Given the description of an element on the screen output the (x, y) to click on. 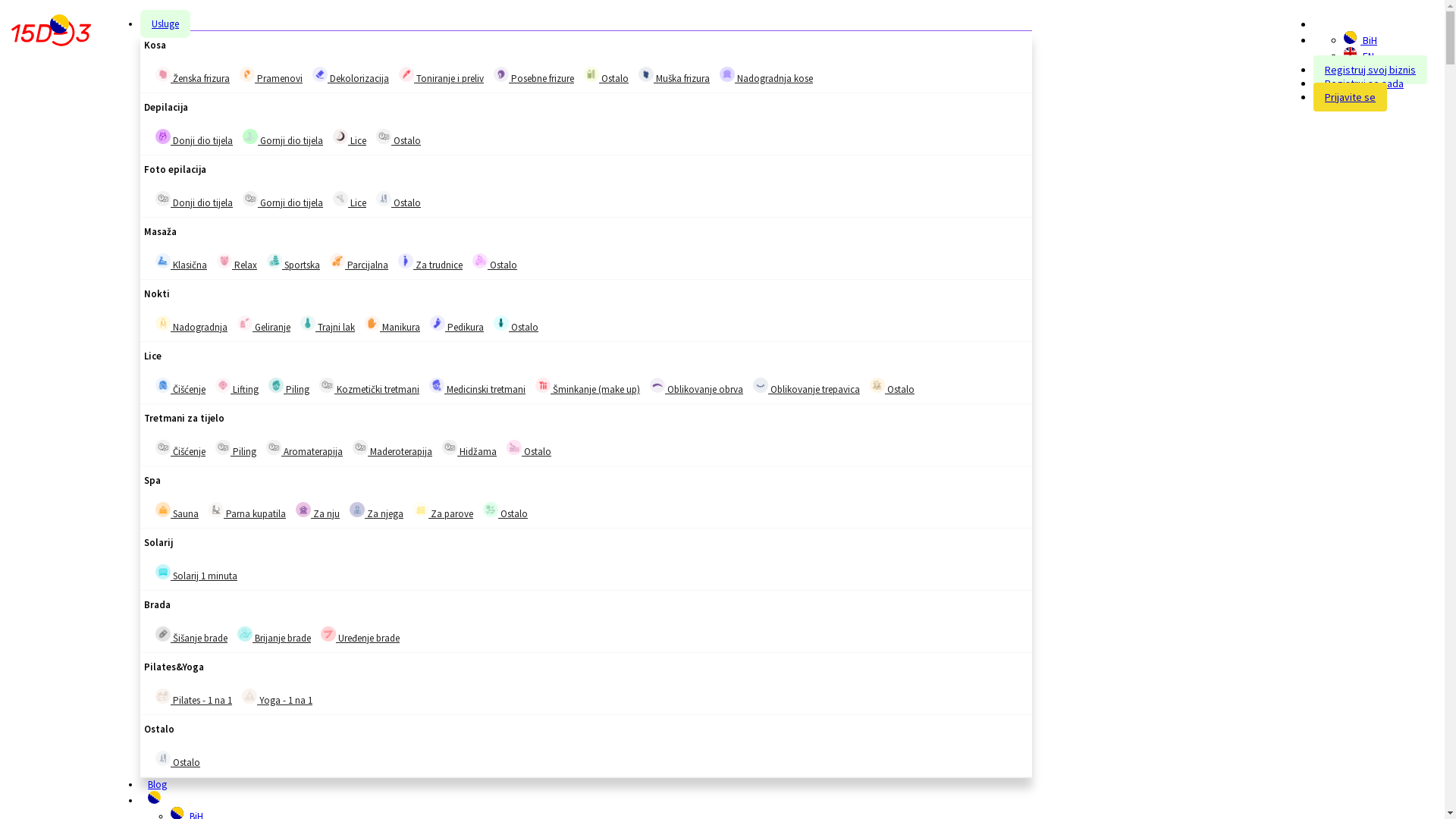
Parcijalna Element type: text (359, 262)
Manikura Element type: hover (371, 322)
Dekolorizacija Element type: hover (319, 73)
Pramenovi Element type: text (270, 75)
EN Element type: text (1358, 55)
Prijavite se Element type: text (1349, 96)
Pedikura Element type: hover (437, 322)
Manikura Element type: text (391, 324)
Ostalo Element type: text (494, 262)
Oblikovanje obrva Element type: hover (657, 384)
Ostalo Element type: hover (500, 322)
Toniranje i preliv Element type: hover (406, 73)
Ostalo Element type: hover (383, 136)
Lice Element type: text (349, 199)
Pramenovi Element type: hover (246, 73)
Ostalo Element type: text (515, 324)
Piling Element type: text (288, 386)
Ostalo Element type: hover (490, 509)
Maderoterapija Element type: text (392, 448)
Piling Element type: text (235, 448)
Lice Element type: hover (340, 198)
Oblikovanje obrva Element type: text (696, 386)
Piling Element type: hover (222, 447)
Sportska Element type: hover (274, 260)
Nadogradnja Element type: hover (162, 322)
Lice Element type: hover (340, 136)
Trajni lak Element type: hover (307, 322)
Brijanje brade Element type: text (273, 635)
Relax Element type: text (236, 262)
Gornji dio tijela Element type: text (282, 199)
BiH Element type: text (1360, 40)
Pedikura Element type: text (456, 324)
Solarij 1 minuta Element type: text (196, 572)
Ostalo Element type: text (606, 75)
Za njega Element type: text (376, 510)
Gornji dio tijela Element type: text (282, 137)
Posebne frizure Element type: text (533, 75)
Ostalo Element type: hover (479, 260)
Oblikovanje trepavica Element type: hover (760, 384)
Ostalo Element type: hover (383, 198)
Parna kupatila Element type: text (246, 510)
Solarij 1 minuta Element type: hover (162, 571)
Usluge Element type: text (165, 23)
Ostalo Element type: text (398, 199)
Sauna Element type: hover (162, 509)
Aromaterapija Element type: hover (273, 447)
Yoga - 1 na 1 Element type: hover (249, 695)
Maderoterapija Element type: hover (359, 447)
Donji dio tijela Element type: text (193, 199)
BiH Element type: hover (1349, 37)
Medicinski tretmani Element type: hover (436, 384)
Registruj svoj biznis Element type: text (1370, 69)
EN Element type: hover (1349, 53)
Sauna Element type: text (176, 510)
Oblikovanje trepavica Element type: text (806, 386)
Za trudnice Element type: text (430, 262)
Brijanje brade Element type: hover (244, 633)
Relax Element type: hover (224, 260)
Ostalo Element type: hover (876, 384)
Za nju Element type: hover (302, 509)
Geliranje Element type: text (263, 324)
Dekolorizacija Element type: text (350, 75)
Piling Element type: hover (275, 384)
Donji dio tijela Element type: hover (162, 198)
Yoga - 1 na 1 Element type: text (277, 697)
Trajni lak Element type: text (327, 324)
Donji dio tijela Element type: text (193, 137)
Ostalo Element type: hover (513, 447)
Pilates - 1 na 1 Element type: hover (162, 695)
Ostalo Element type: text (398, 137)
Ostalo Element type: text (177, 759)
Za trudnice Element type: hover (405, 260)
Ostalo Element type: text (505, 510)
Gornji dio tijela Element type: hover (249, 136)
Medicinski tretmani Element type: text (477, 386)
Geliranje Element type: hover (244, 322)
Sportska Element type: text (293, 262)
Aromaterapija Element type: text (304, 448)
Donji dio tijela Element type: hover (162, 136)
Parcijalna Element type: hover (337, 260)
15do3 - Online rezervacija termina Element type: hover (51, 32)
Lifting Element type: hover (222, 384)
Pilates - 1 na 1 Element type: text (193, 697)
Ostalo Element type: hover (162, 757)
Toniranje i preliv Element type: text (441, 75)
Nadogradnja Element type: text (191, 324)
Lifting Element type: text (236, 386)
Ostalo Element type: text (892, 386)
Registruj se sada Element type: text (1364, 83)
Posebne frizure Element type: hover (500, 73)
Za parove Element type: hover (420, 509)
Nadogradnja kose Element type: hover (726, 73)
Za nju Element type: text (317, 510)
Nadogradnja kose Element type: text (765, 75)
Lice Element type: text (349, 137)
Za parove Element type: text (442, 510)
Za njega Element type: hover (356, 509)
Ostalo Element type: hover (591, 73)
Ostalo Element type: text (528, 448)
Blog Element type: text (157, 784)
Parna kupatila Element type: hover (215, 509)
Gornji dio tijela Element type: hover (249, 198)
